Given the description of an element on the screen output the (x, y) to click on. 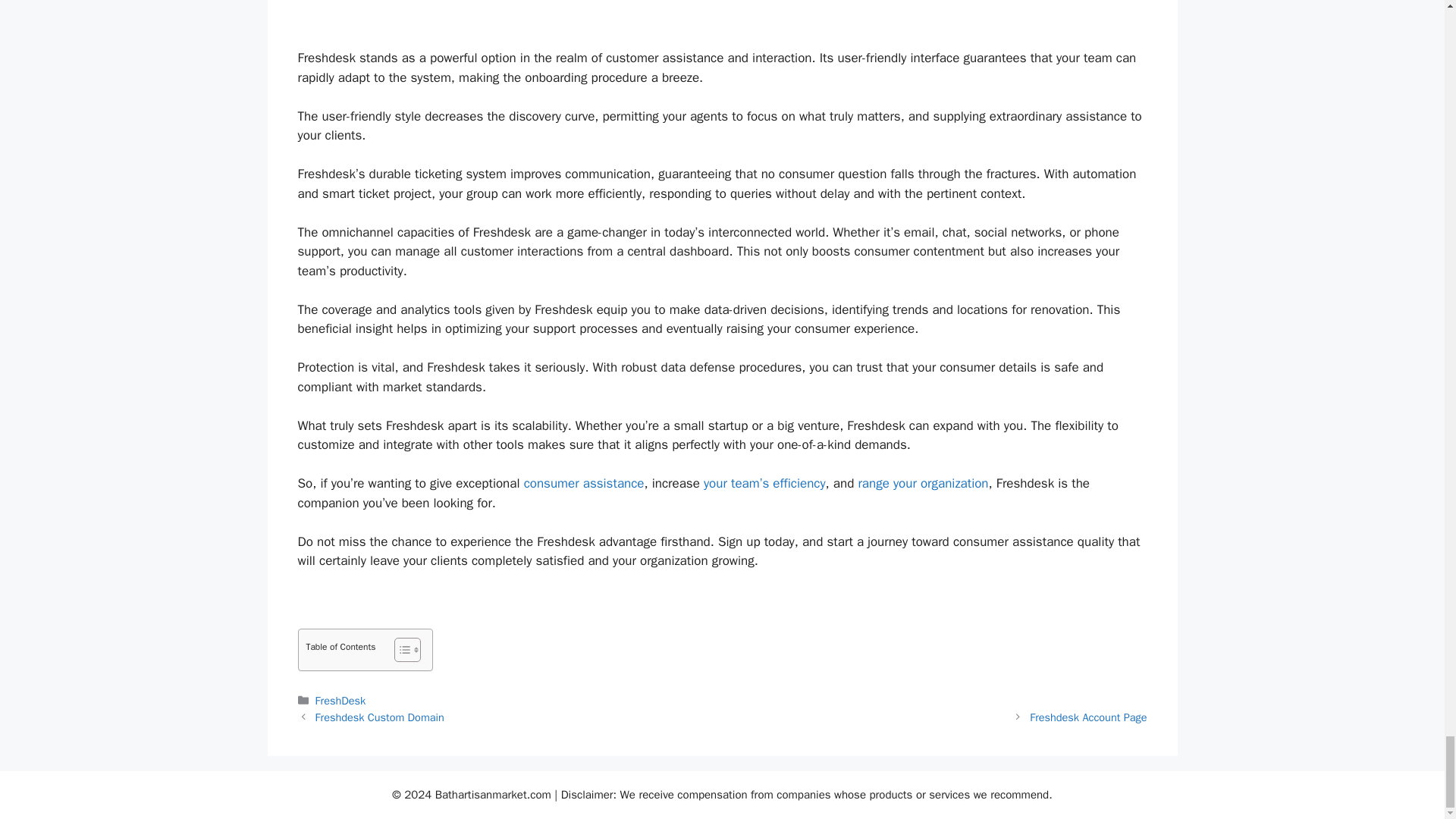
consumer assistance (584, 483)
range your organization (922, 483)
Freshdesk Account Page (1088, 716)
FreshDesk (340, 700)
Freshdesk Custom Domain (379, 716)
